Given the description of an element on the screen output the (x, y) to click on. 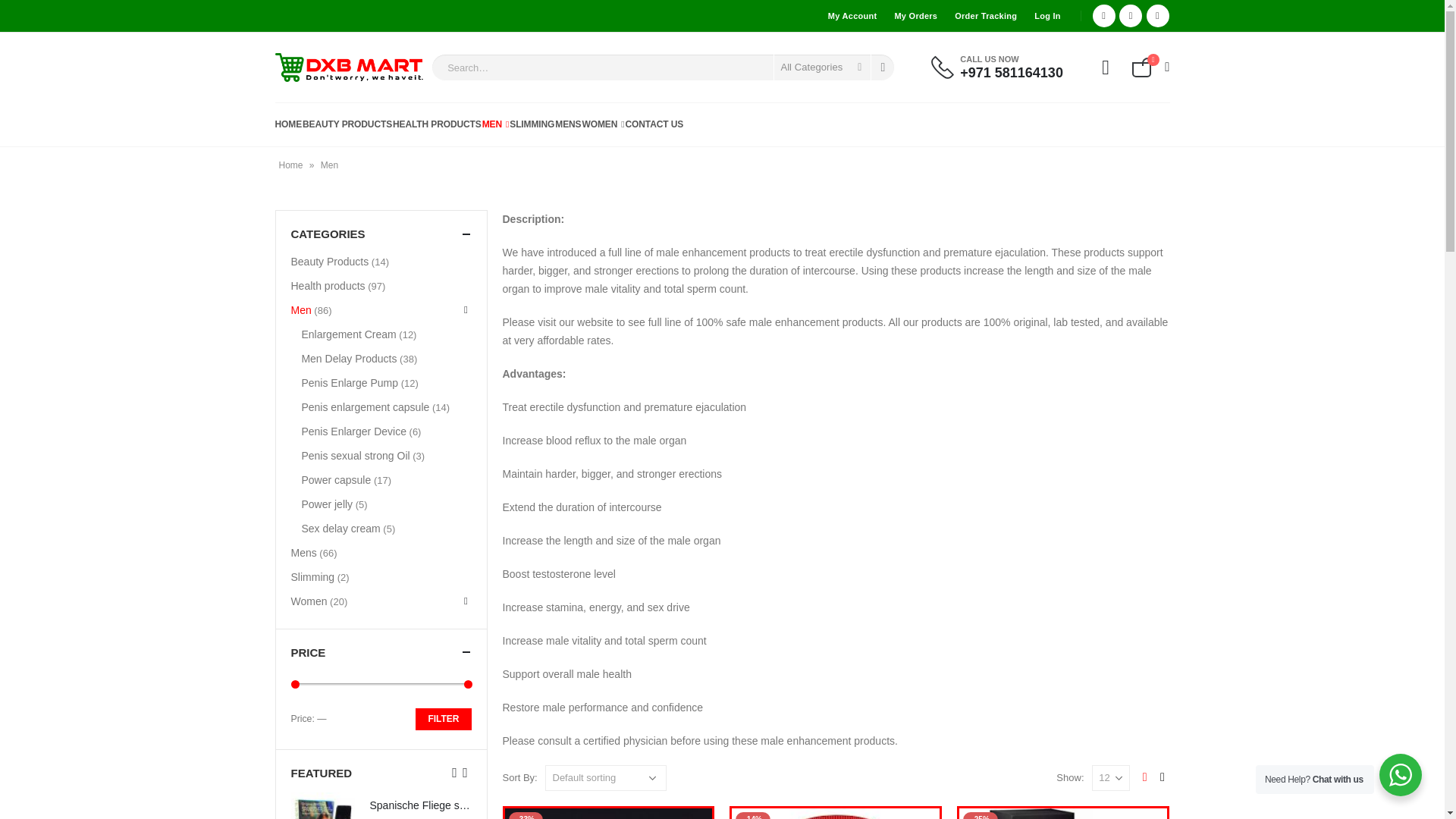
Facebook (1104, 15)
Grid View (1144, 778)
Log In (1048, 15)
BEAUTY PRODUCTS (346, 124)
SLIMMING (531, 124)
HEALTH PRODUCTS (437, 124)
My Account (852, 15)
My Account (1105, 67)
My Orders (915, 15)
Twitter (1130, 15)
